Given the description of an element on the screen output the (x, y) to click on. 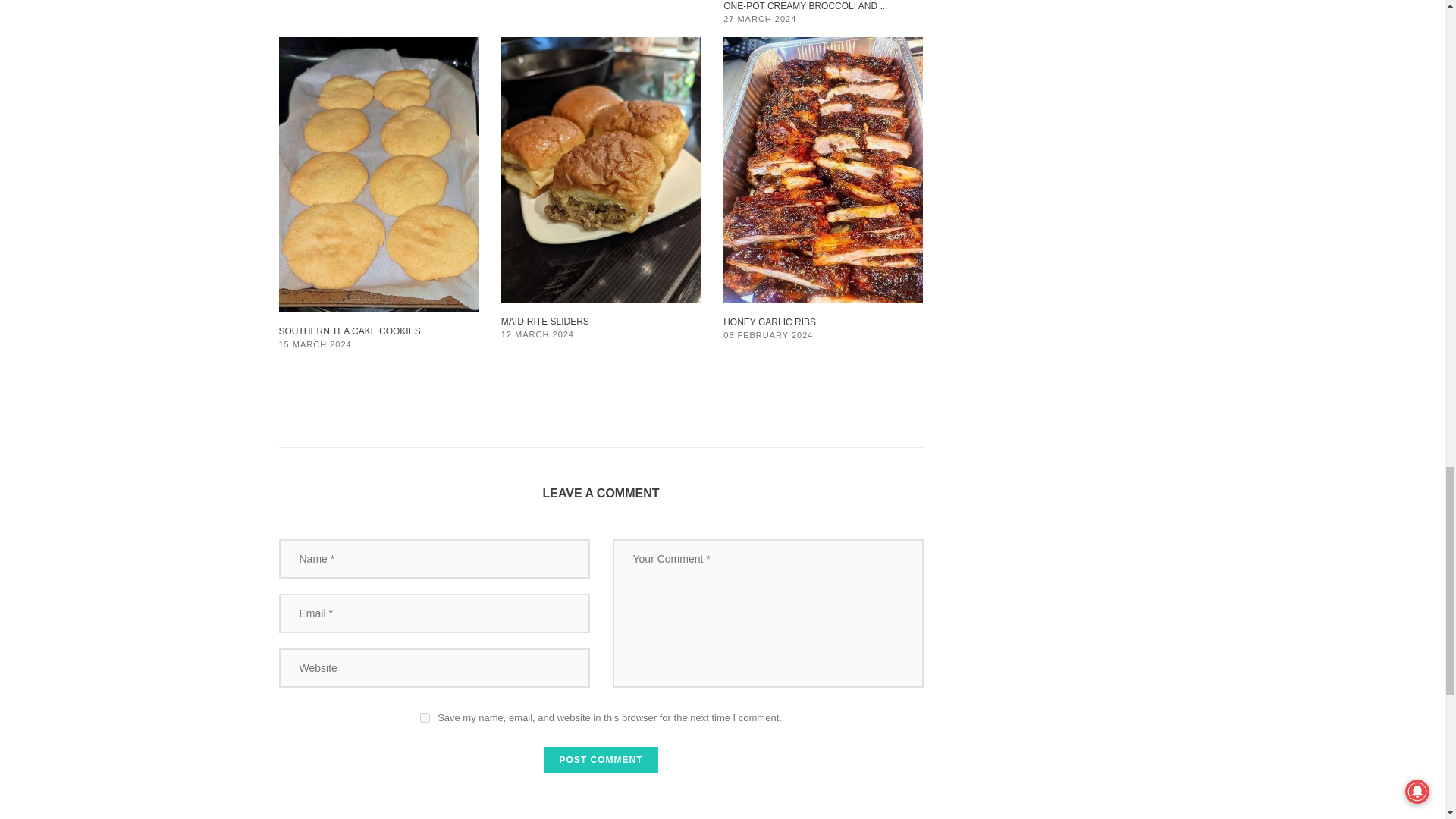
ONE-POT CREAMY BROCCOLI AND ... (804, 5)
HONEY GARLIC RIBS (769, 321)
Post Comment (601, 759)
yes (424, 717)
SOUTHERN TEA CAKE COOKIES (349, 330)
Post Comment (601, 759)
MAID-RITE SLIDERS (544, 321)
